Given the description of an element on the screen output the (x, y) to click on. 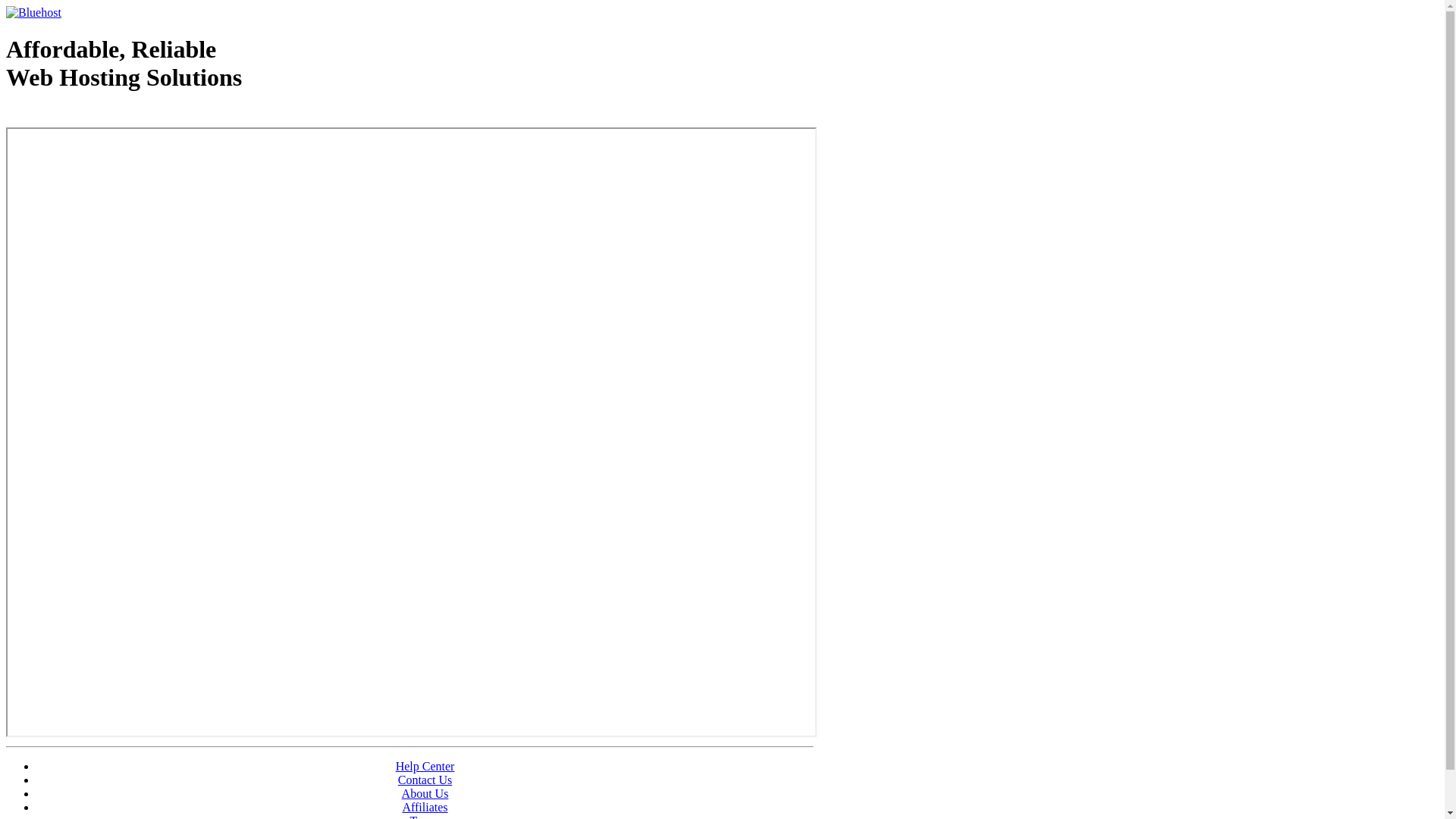
Help Center Element type: text (425, 765)
Contact Us Element type: text (425, 779)
About Us Element type: text (424, 793)
Affiliates Element type: text (424, 806)
Web Hosting - courtesy of www.bluehost.com Element type: text (94, 115)
